Given the description of an element on the screen output the (x, y) to click on. 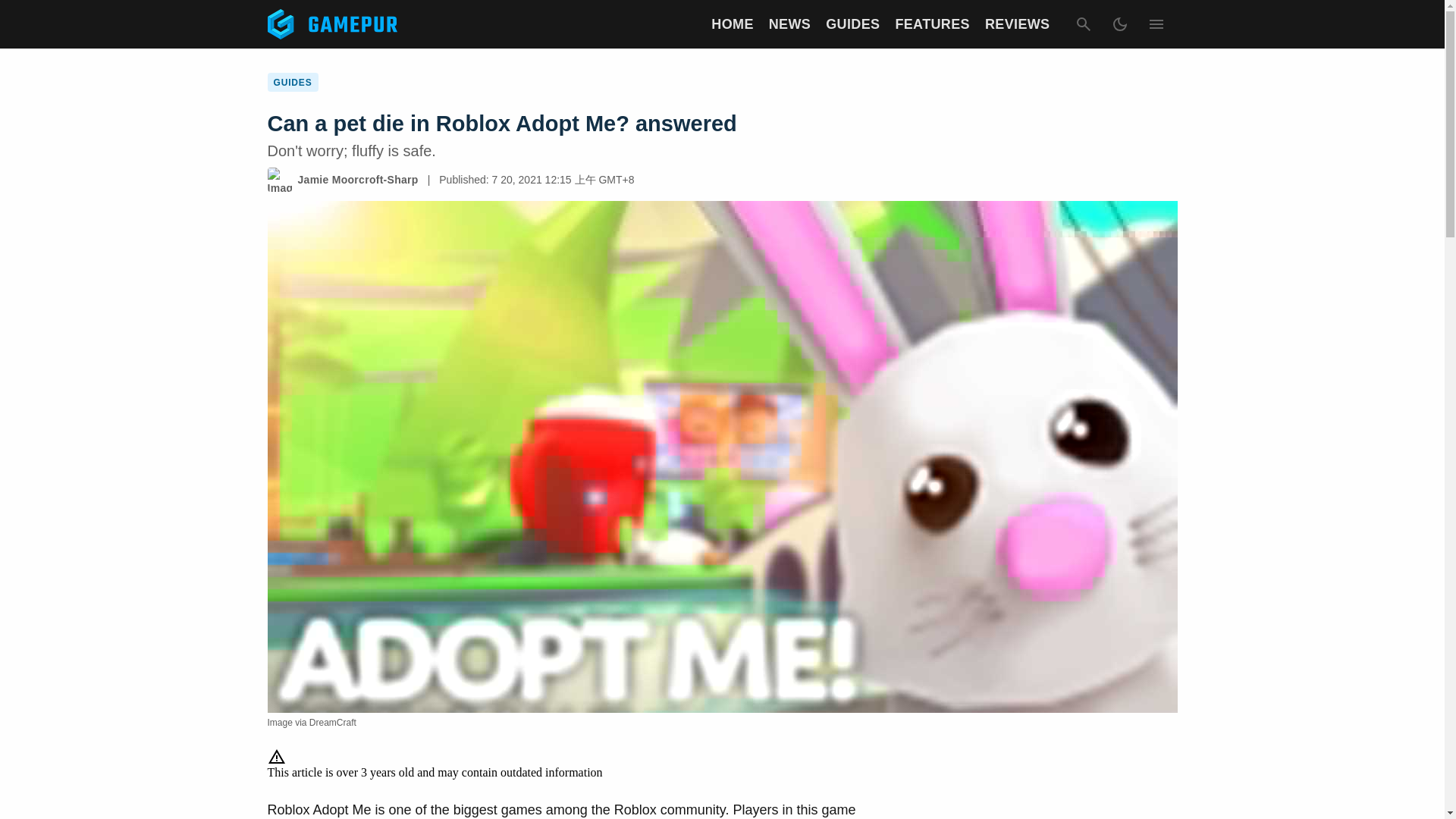
GUIDES (852, 23)
HOME (731, 23)
Dark Mode (1118, 24)
Expand Menu (1155, 24)
REVIEWS (1017, 23)
Search (1082, 24)
NEWS (789, 23)
FEATURES (932, 23)
